Given the description of an element on the screen output the (x, y) to click on. 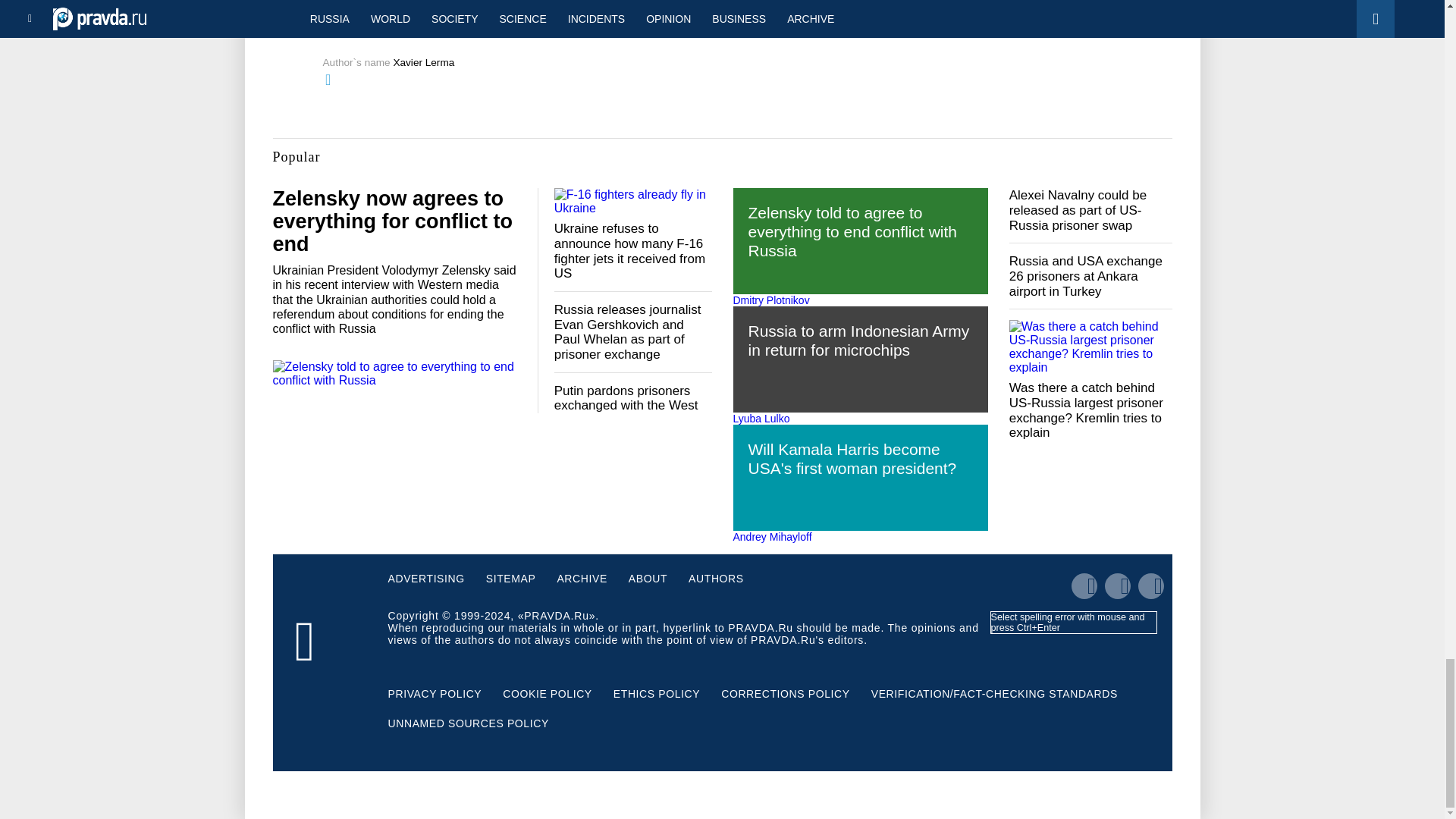
Telegram channel (473, 26)
Facebook (565, 26)
RSS (616, 26)
Xavier Lerma (423, 61)
